Given the description of an element on the screen output the (x, y) to click on. 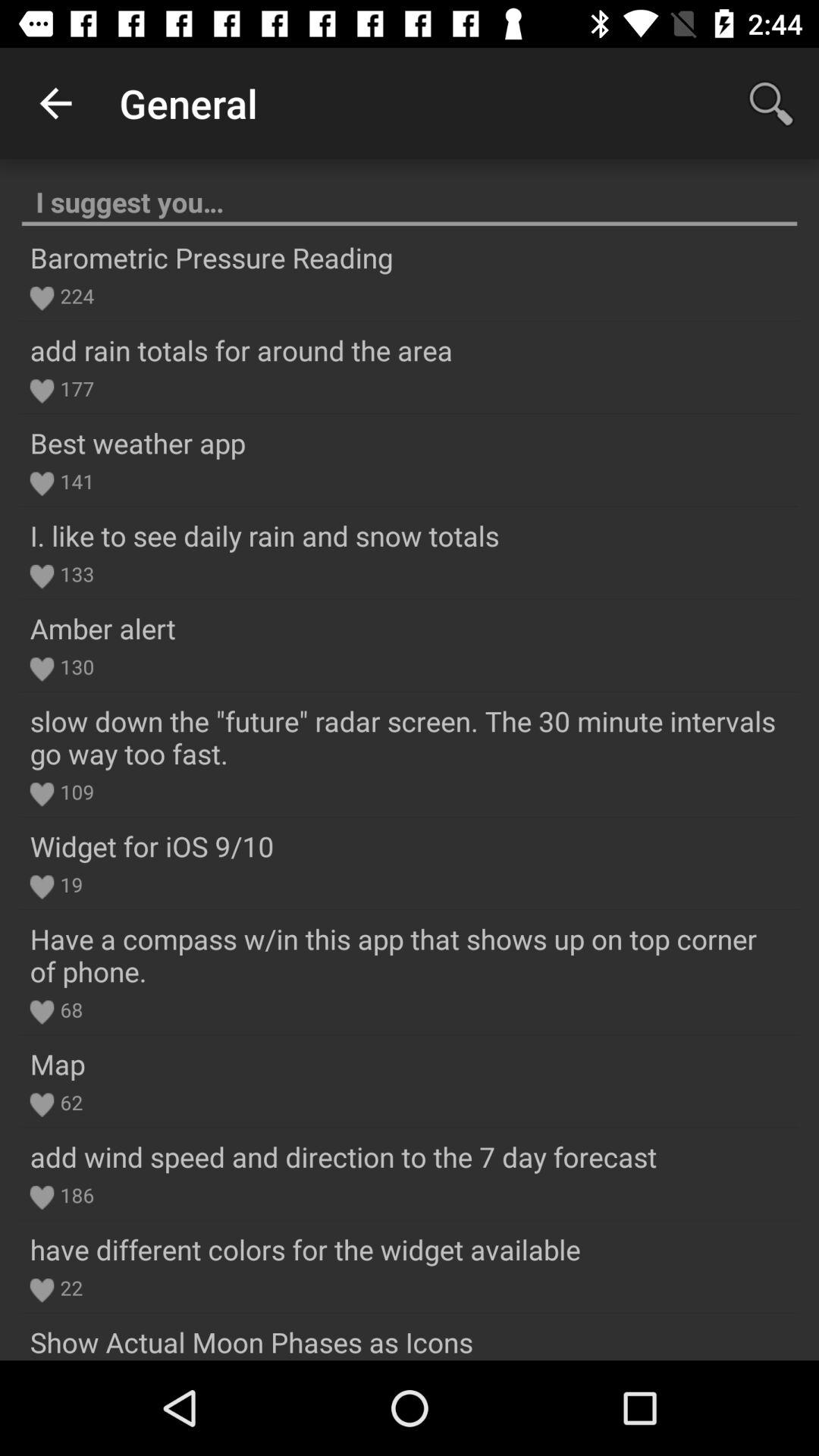
tap the item to the left of general icon (55, 103)
